Given the description of an element on the screen output the (x, y) to click on. 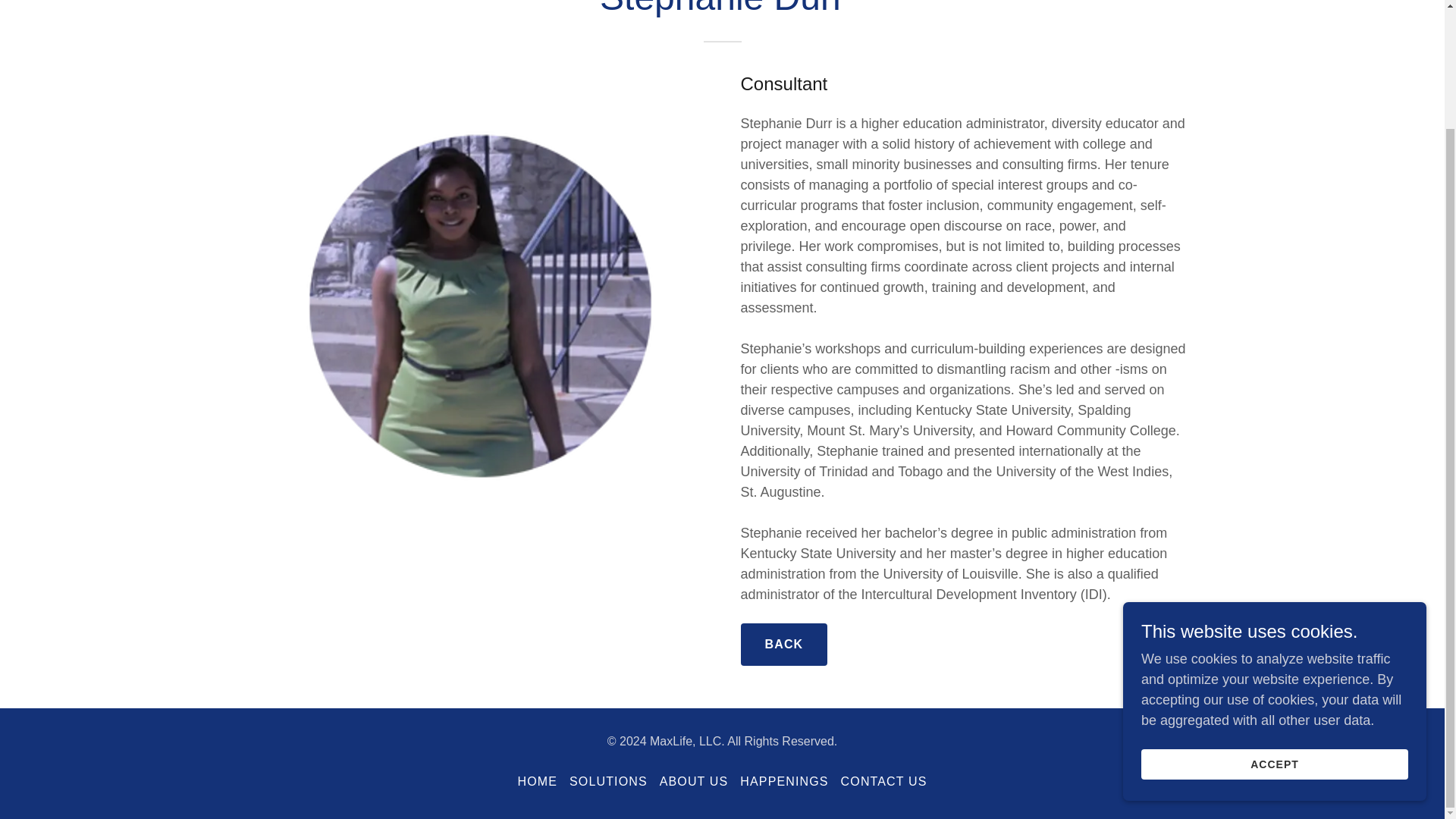
ABOUT US (694, 781)
HAPPENINGS (783, 781)
BACK (783, 644)
ACCEPT (1274, 622)
CONTACT US (883, 781)
SOLUTIONS (608, 781)
HOME (537, 781)
